Given the description of an element on the screen output the (x, y) to click on. 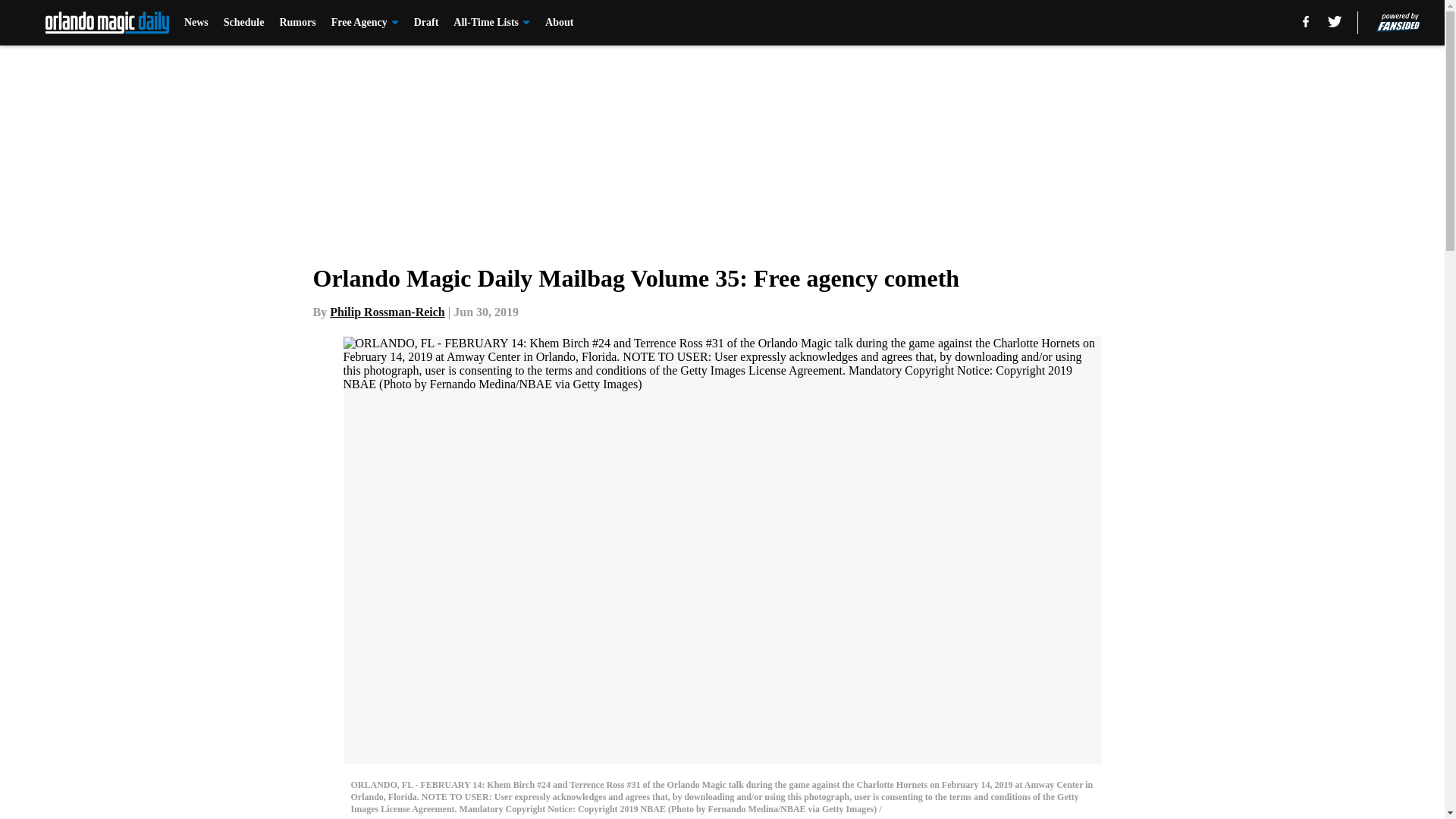
About (558, 22)
Philip Rossman-Reich (387, 311)
Draft (426, 22)
News (196, 22)
Free Agency (364, 22)
Rumors (297, 22)
All-Time Lists (490, 22)
Schedule (244, 22)
